Given the description of an element on the screen output the (x, y) to click on. 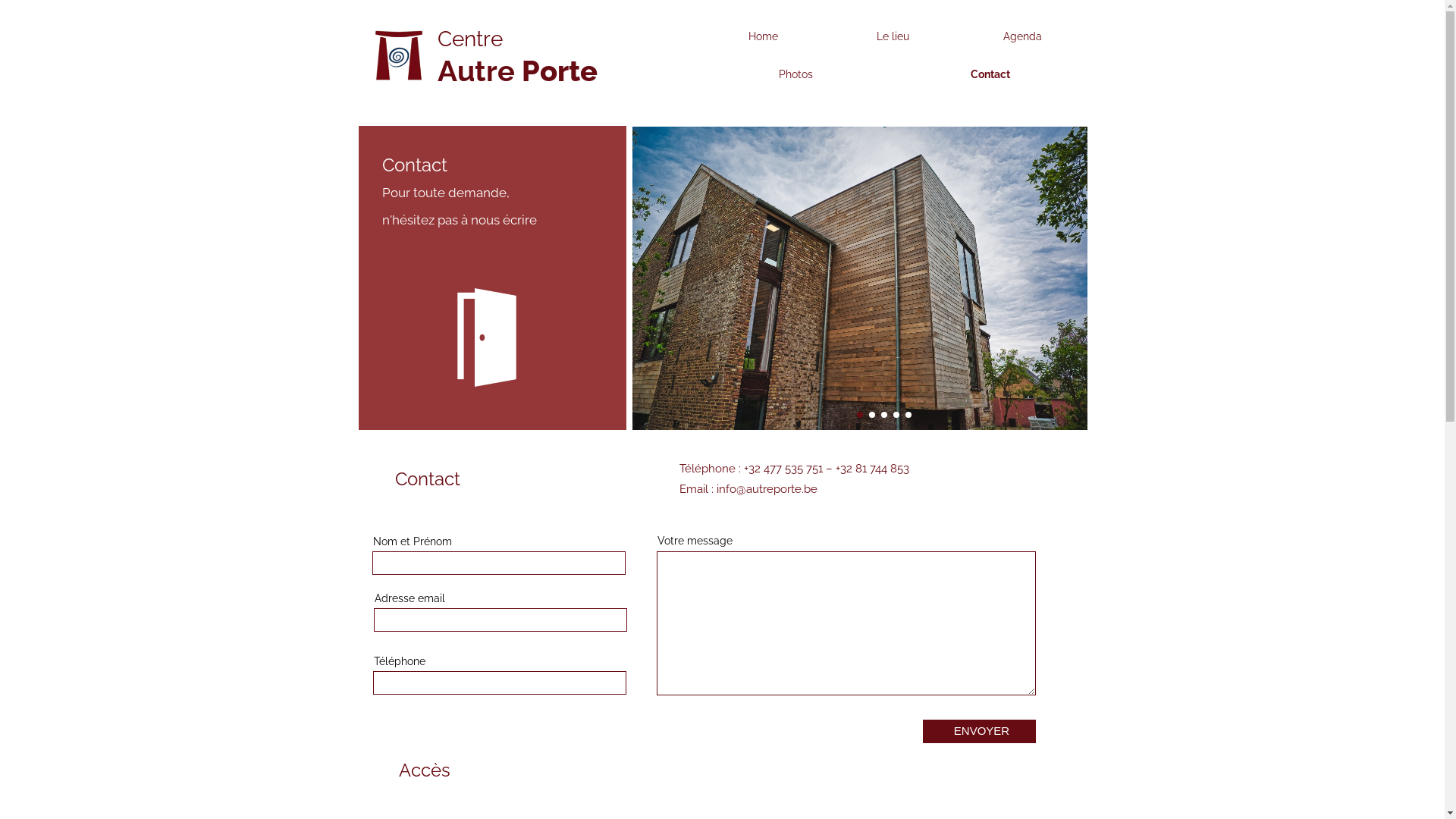
Agenda Element type: text (1022, 36)
Home Element type: text (762, 36)
ENVOYER Element type: text (978, 731)
Photos Element type: text (794, 74)
Contact Element type: text (990, 74)
Le lieu Element type: text (892, 36)
